Given the description of an element on the screen output the (x, y) to click on. 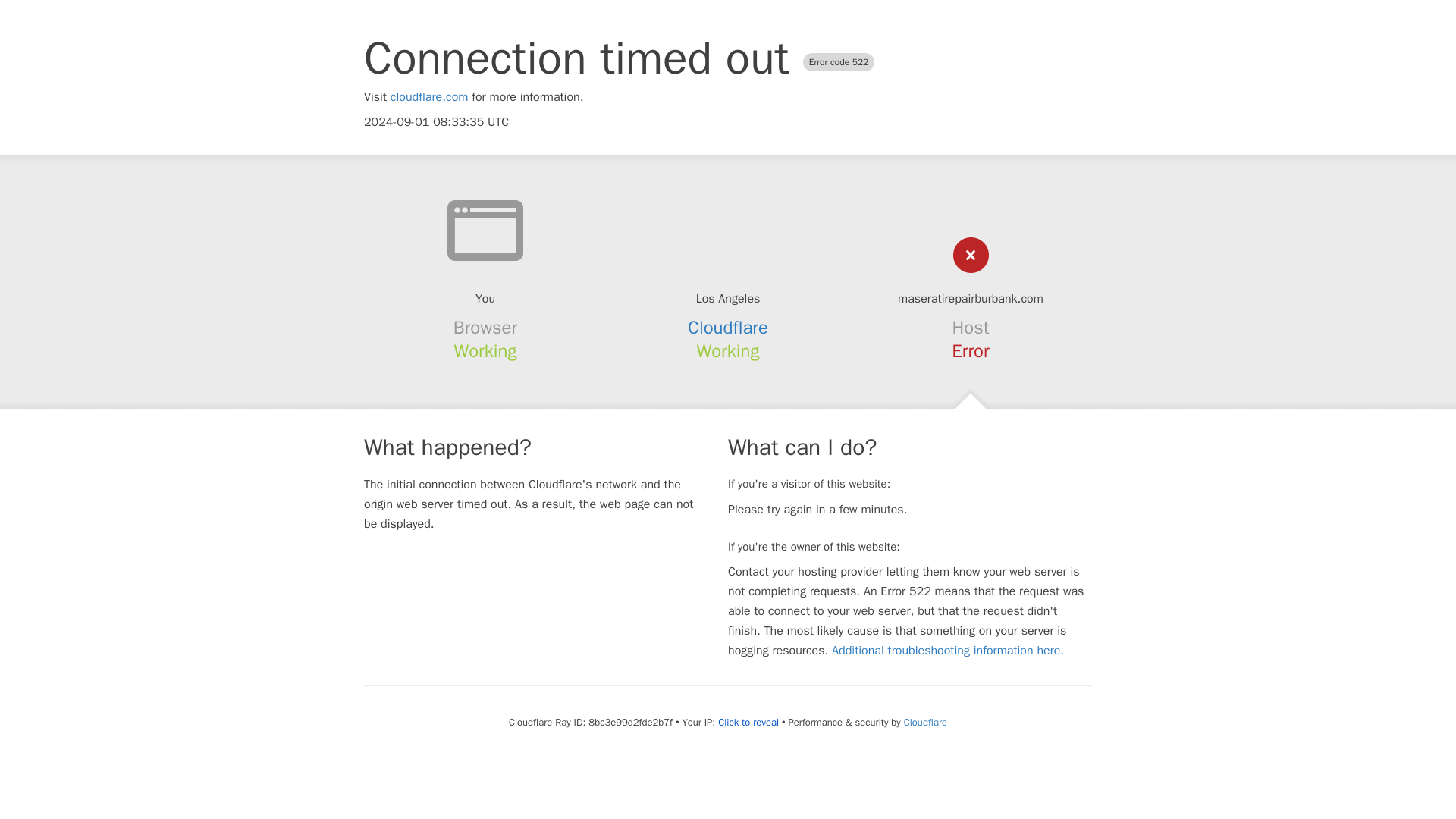
Cloudflare (925, 721)
Click to reveal (747, 722)
Cloudflare (727, 327)
cloudflare.com (429, 96)
Additional troubleshooting information here. (947, 650)
